Given the description of an element on the screen output the (x, y) to click on. 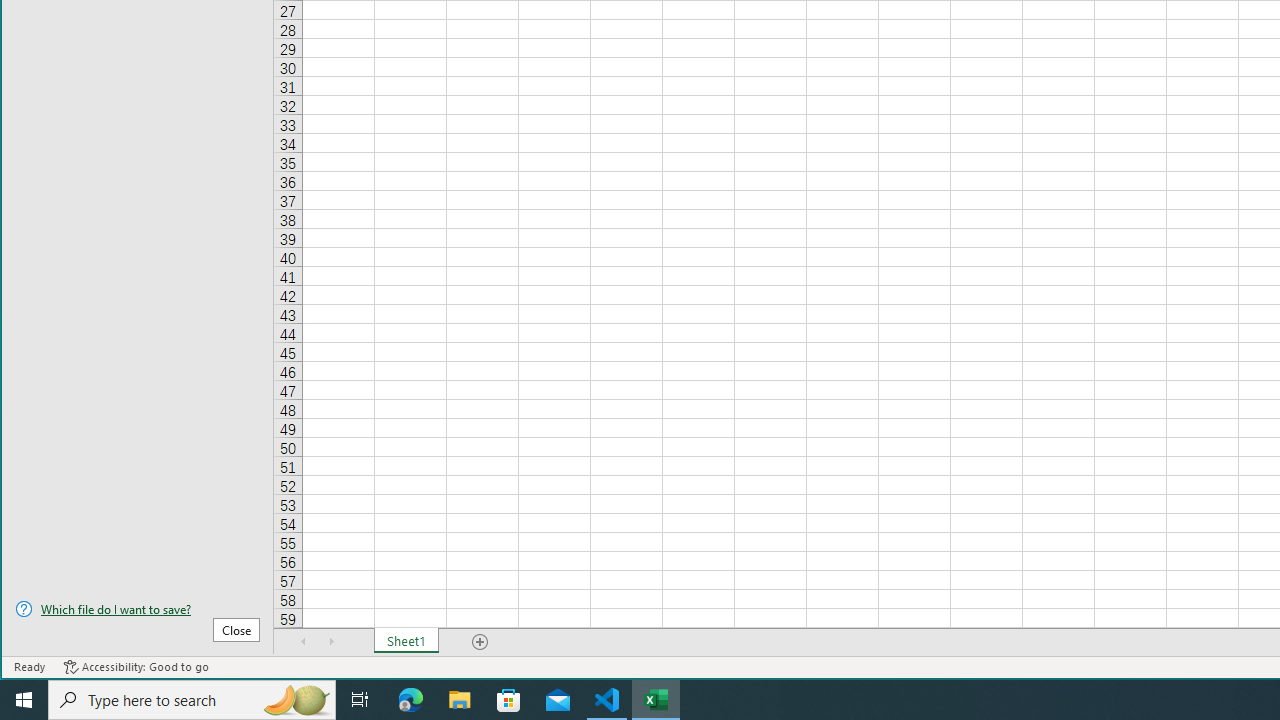
Microsoft Edge (411, 699)
Sheet1 (406, 641)
Task View (359, 699)
Accessibility Checker Accessibility: Good to go (136, 667)
Scroll Right (331, 641)
Type here to search (191, 699)
Add Sheet (481, 641)
File Explorer (460, 699)
Excel - 1 running window (656, 699)
Which file do I want to save? (137, 609)
Close (235, 629)
Visual Studio Code - 1 running window (607, 699)
Search highlights icon opens search home window (295, 699)
Microsoft Store (509, 699)
Scroll Left (303, 641)
